Given the description of an element on the screen output the (x, y) to click on. 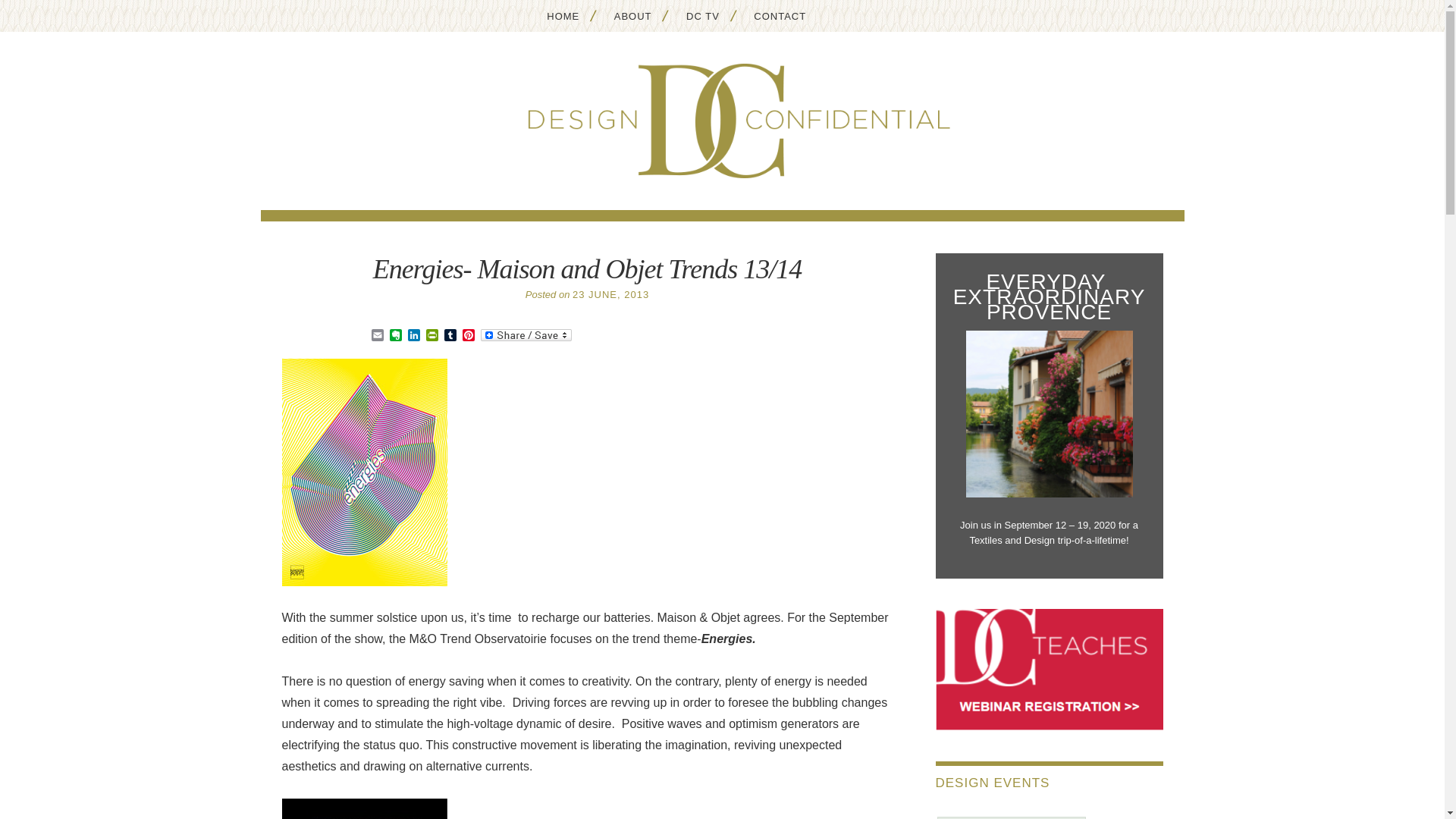
Evernote (395, 336)
LinkedIn (413, 336)
DC TV (702, 15)
Tumblr (450, 336)
LinkedIn (413, 336)
CONTACT (780, 15)
Tumblr (450, 336)
Evernote (395, 336)
HOME (562, 15)
Pinterest (468, 336)
Email (377, 336)
ABOUT (632, 15)
PrintFriendly (432, 336)
Email (377, 336)
Pinterest (468, 336)
